Given the description of an element on the screen output the (x, y) to click on. 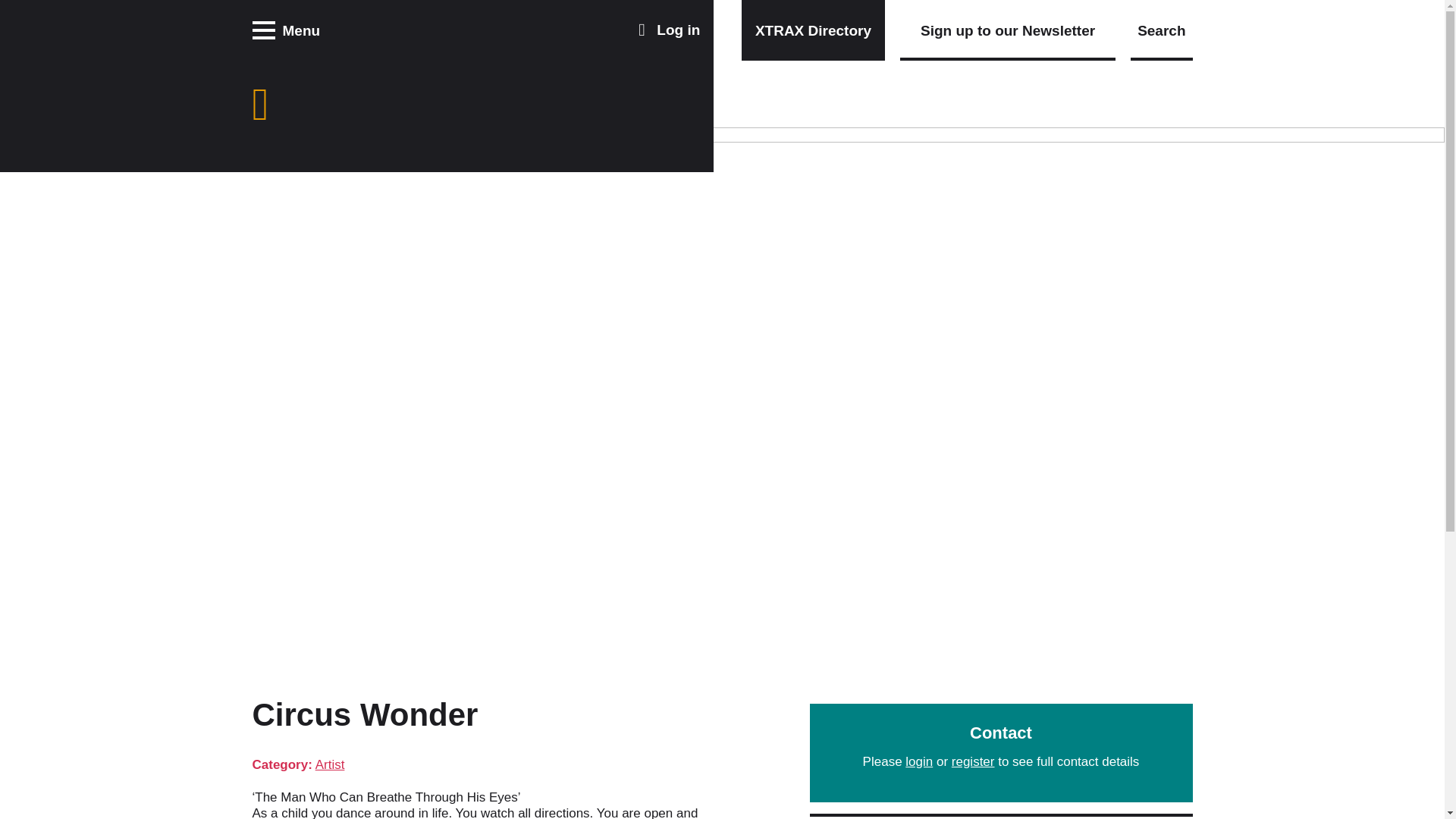
Sign up to our Newsletter (1007, 30)
Search (1161, 30)
Menu (285, 30)
XTRAX Directory (813, 30)
Log in (669, 29)
